Given the description of an element on the screen output the (x, y) to click on. 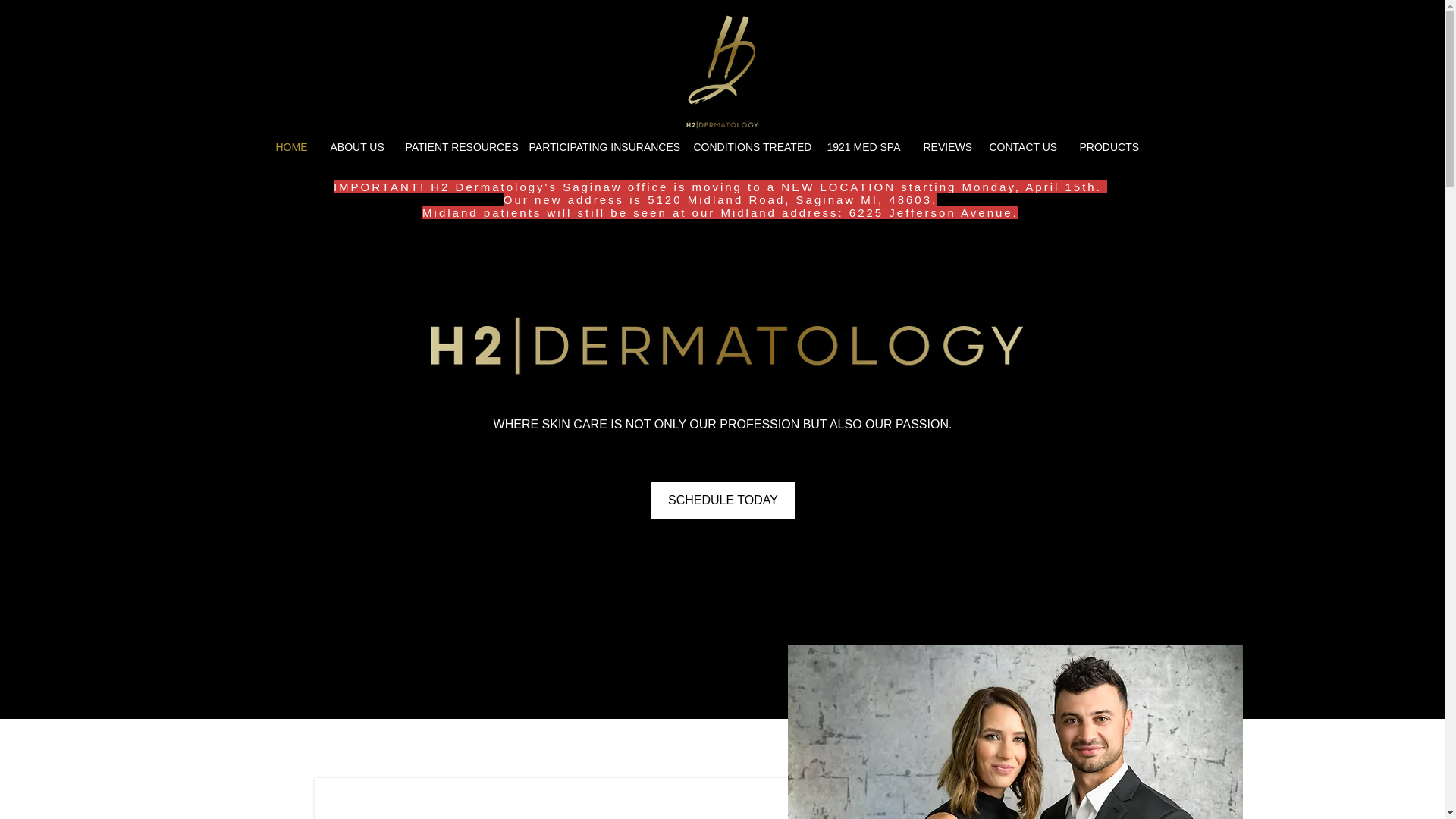
REVIEWS (943, 146)
CONDITIONS TREATED (748, 146)
HOME (290, 146)
1921 MED SPA (863, 146)
PARTICIPATING INSURANCES (598, 146)
PRODUCTS (1105, 146)
SCHEDULE TODAY (722, 500)
ABOUT US (355, 146)
CONTACT US (1023, 146)
